Given the description of an element on the screen output the (x, y) to click on. 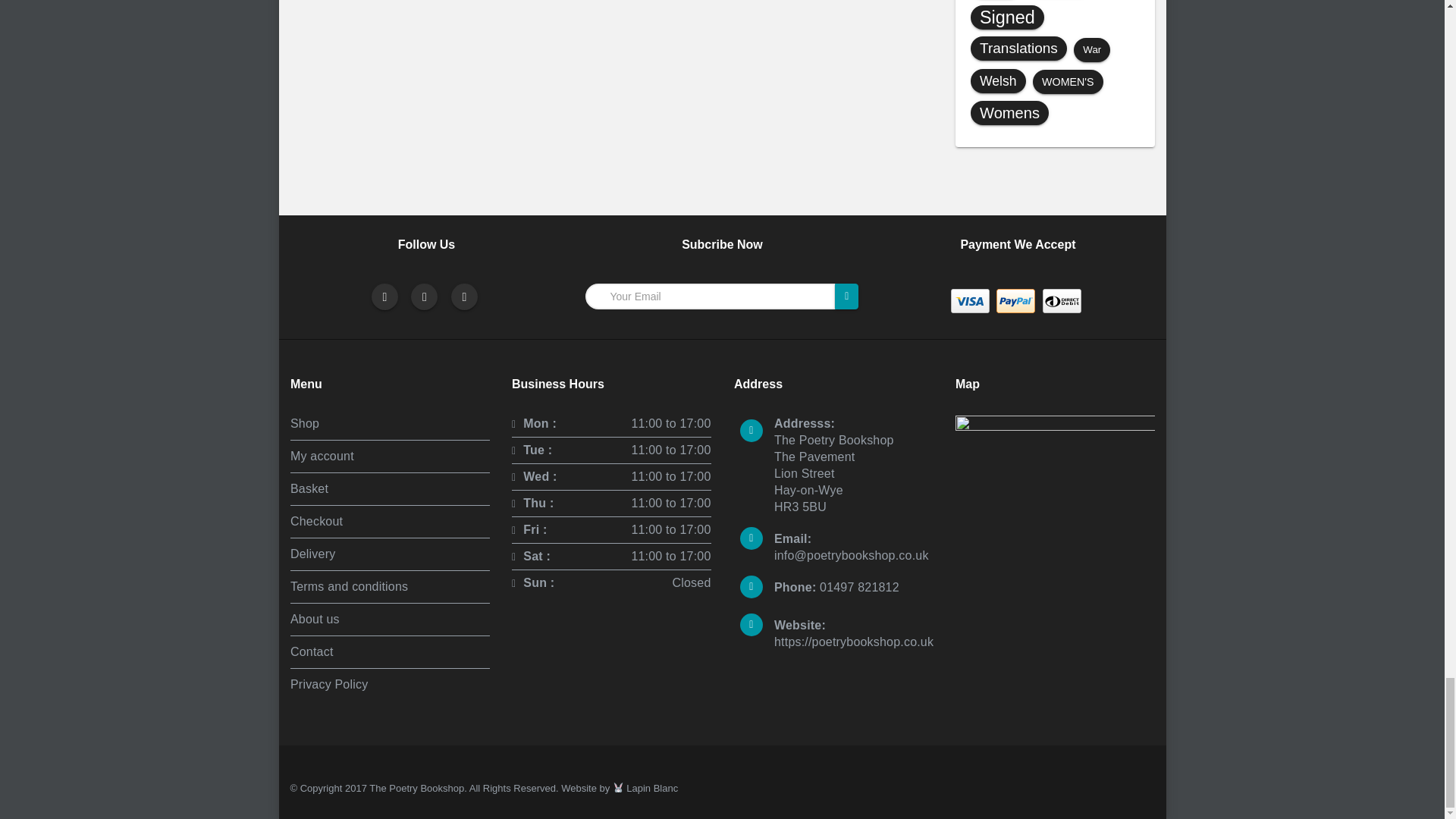
Instagram (465, 296)
Facebook (384, 296)
Twitter (424, 296)
